Given the description of an element on the screen output the (x, y) to click on. 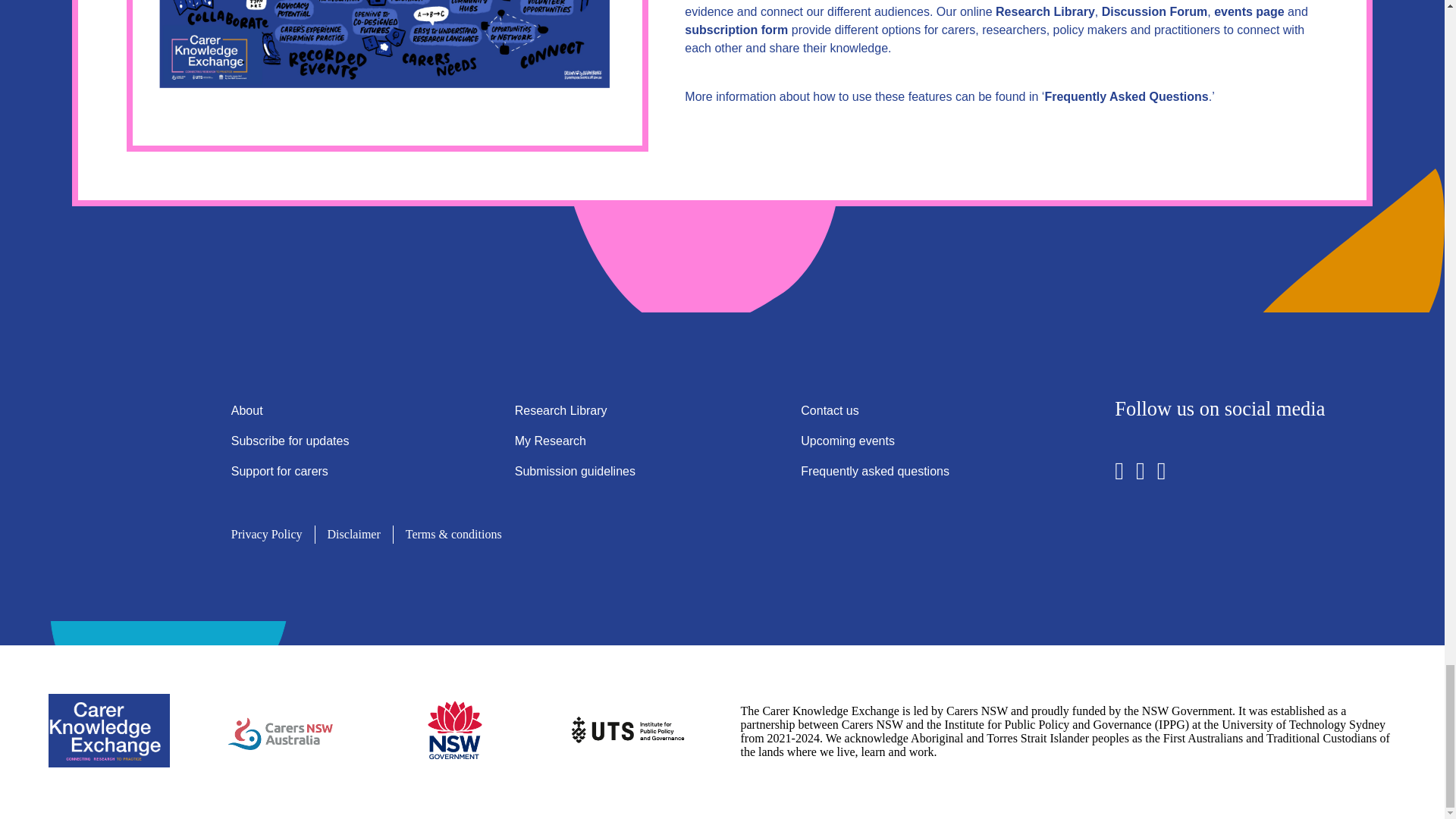
Research library (1044, 12)
Sign up (735, 30)
Get involved (1249, 12)
Frequently asked questions (1125, 96)
